Given the description of an element on the screen output the (x, y) to click on. 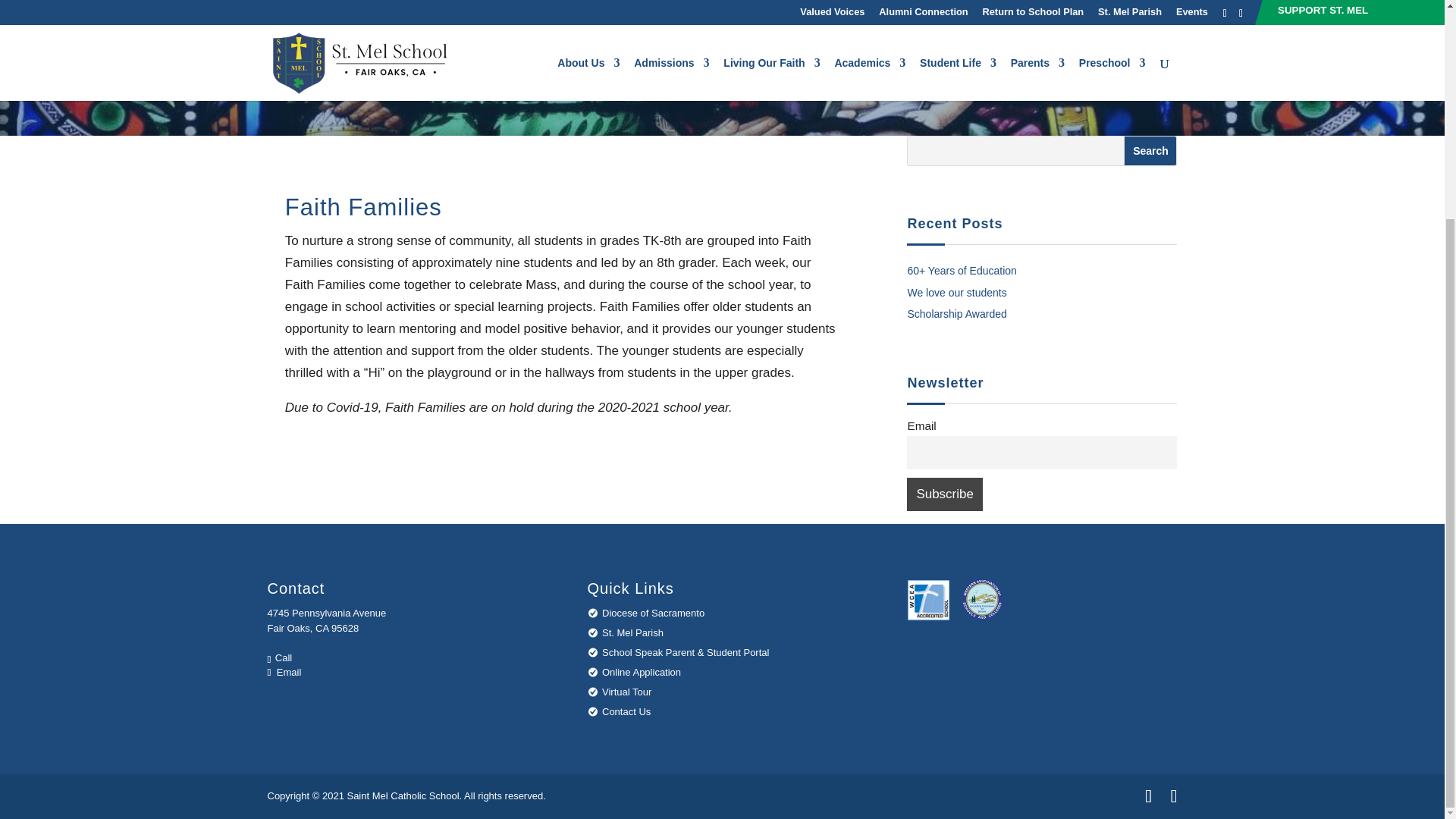
Search (1150, 150)
Subscribe (944, 494)
